Given the description of an element on the screen output the (x, y) to click on. 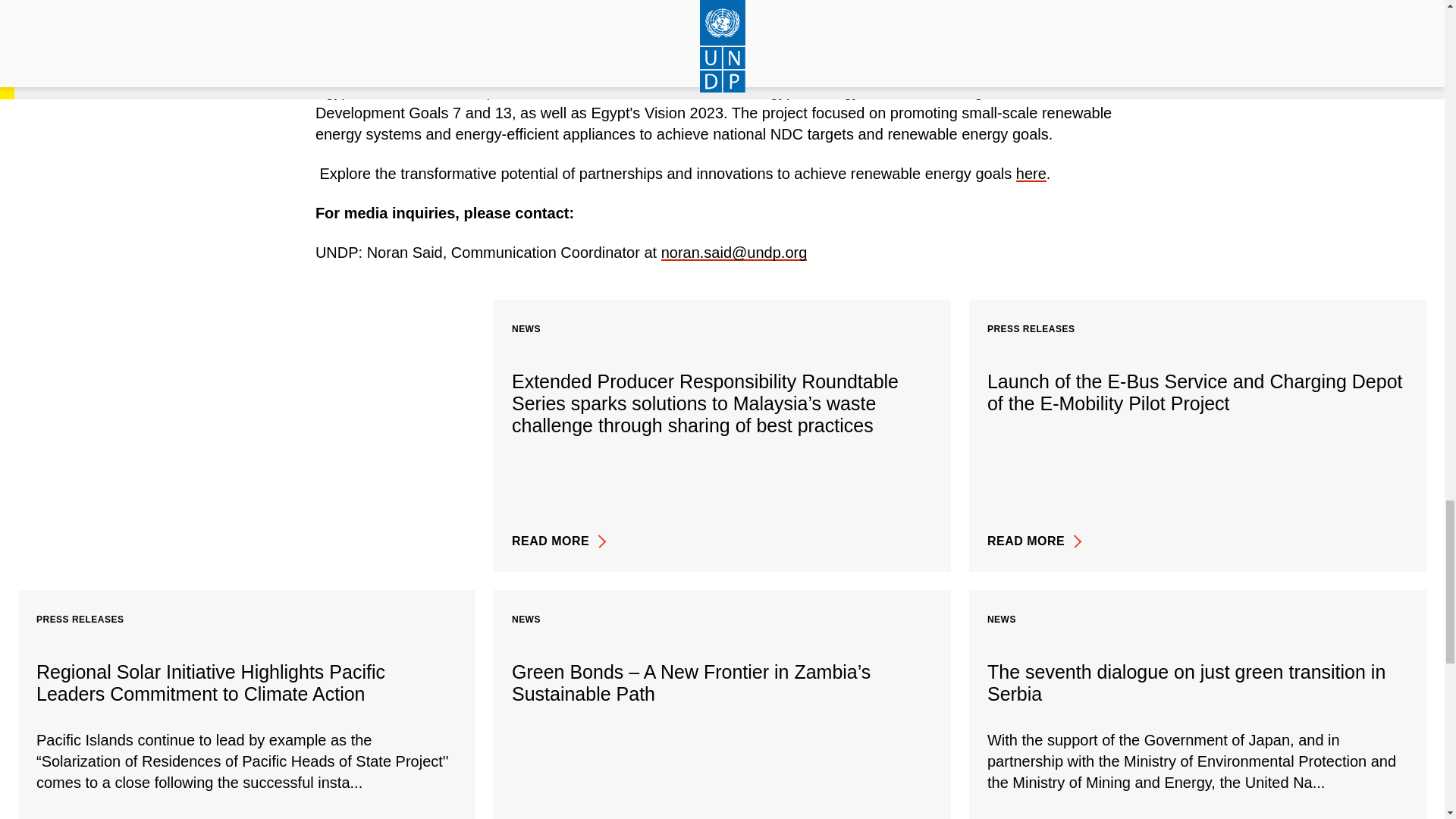
here (1031, 173)
